Given the description of an element on the screen output the (x, y) to click on. 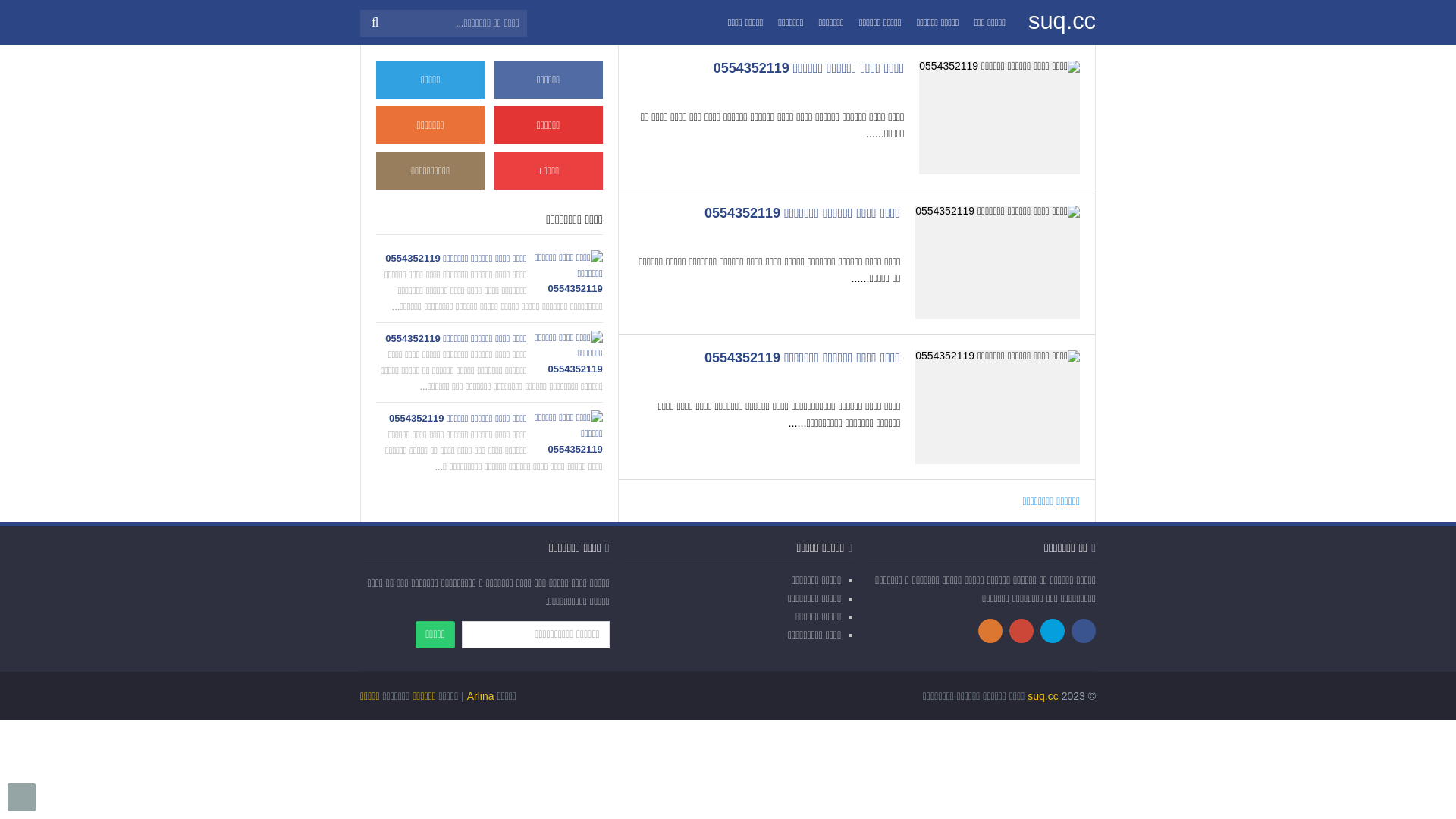
suq.cc Element type: text (1061, 20)
suq.cc Element type: text (1042, 696)
Arlina Element type: text (480, 696)
